Given the description of an element on the screen output the (x, y) to click on. 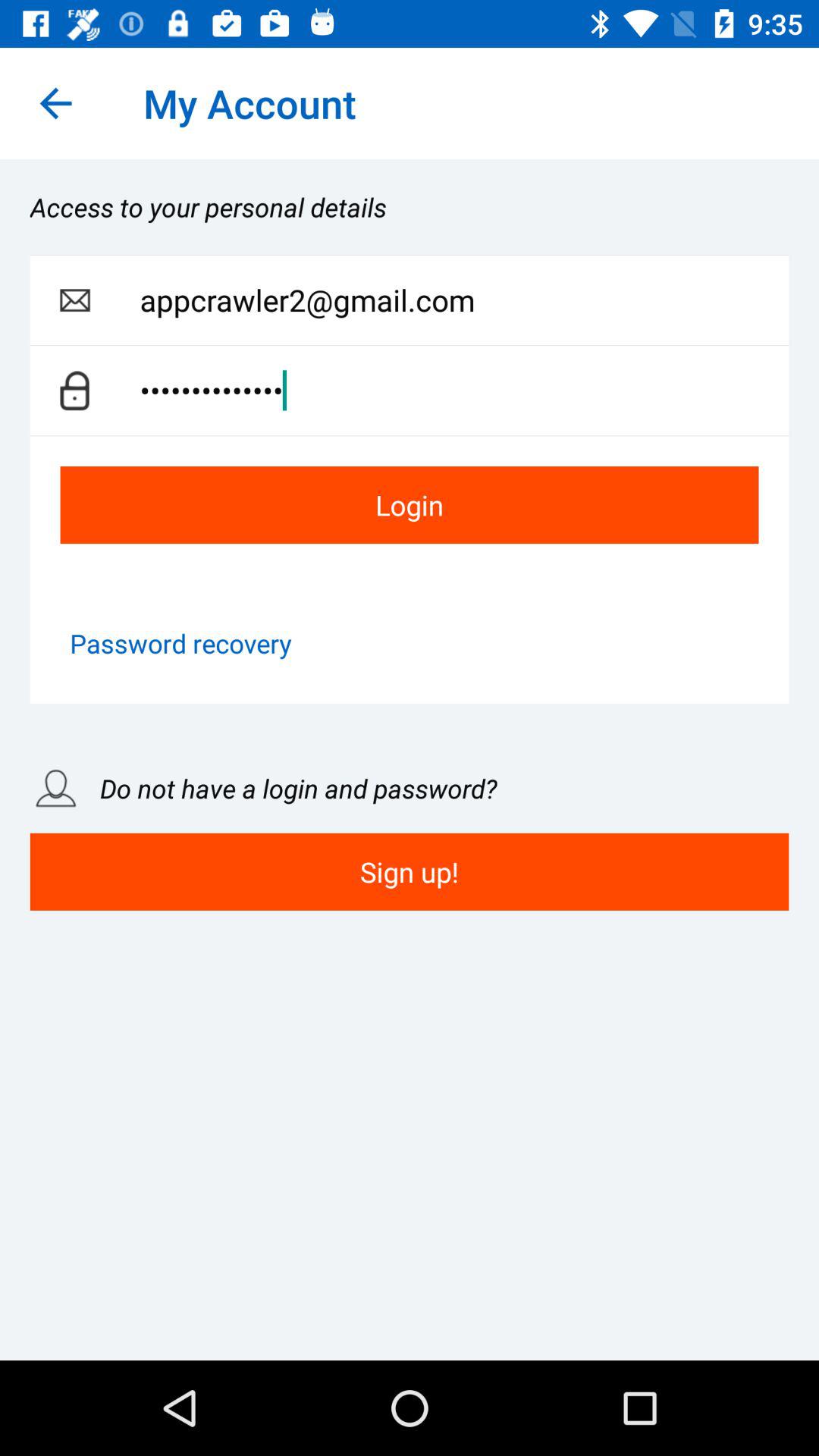
turn on the icon next to the my account (55, 103)
